Given the description of an element on the screen output the (x, y) to click on. 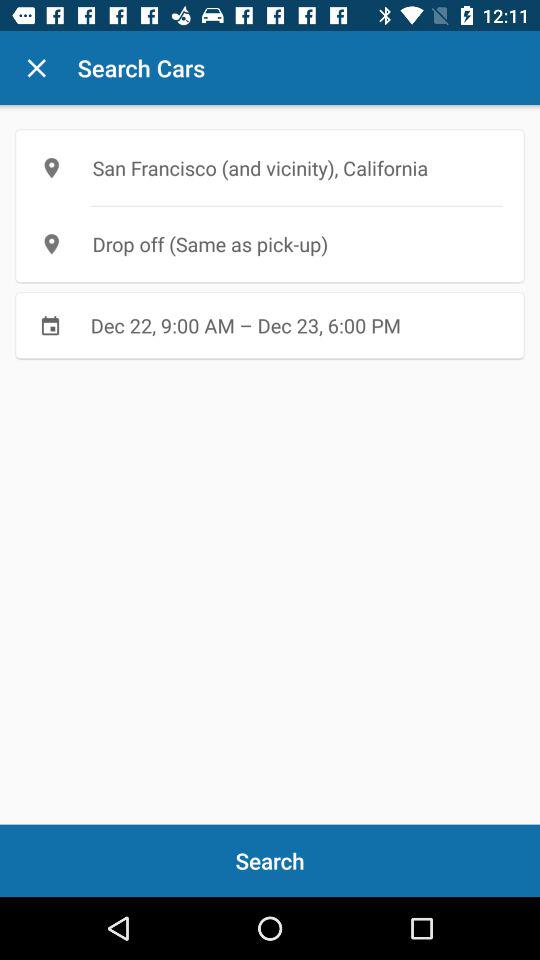
click item above drop off same icon (269, 168)
